Given the description of an element on the screen output the (x, y) to click on. 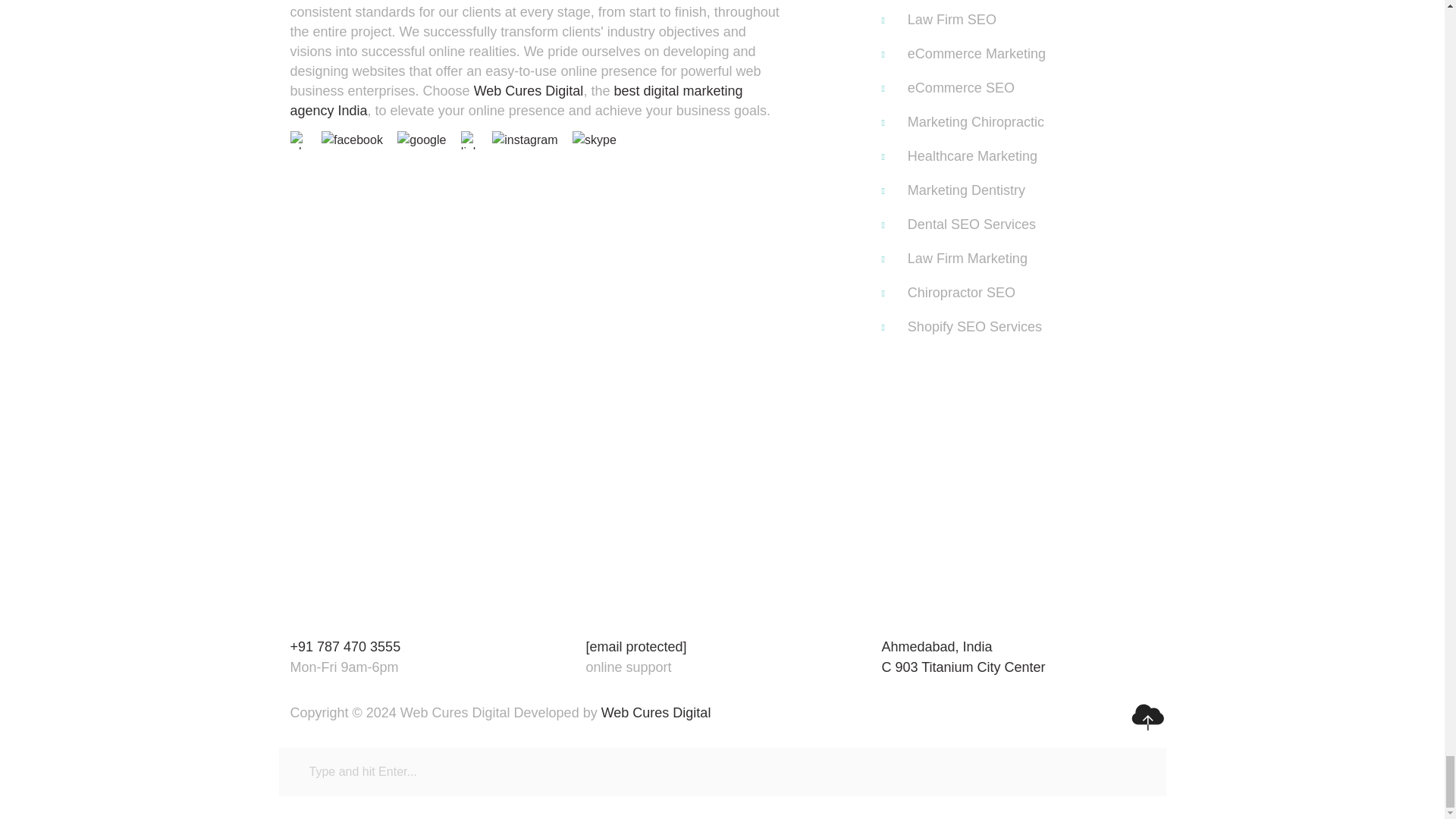
Law Firm SEO (1030, 19)
